Given the description of an element on the screen output the (x, y) to click on. 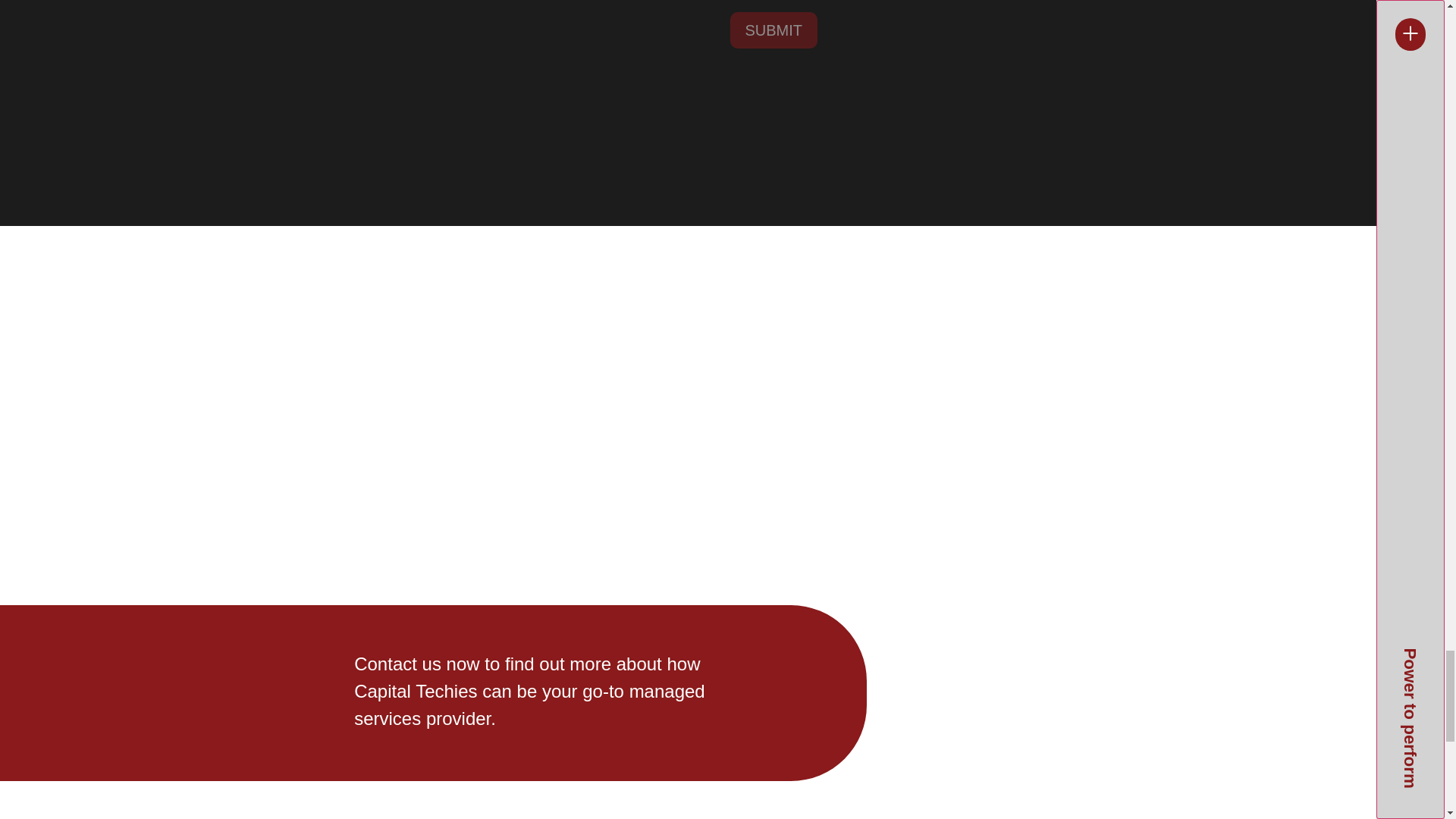
SUBMIT (772, 30)
